Given the description of an element on the screen output the (x, y) to click on. 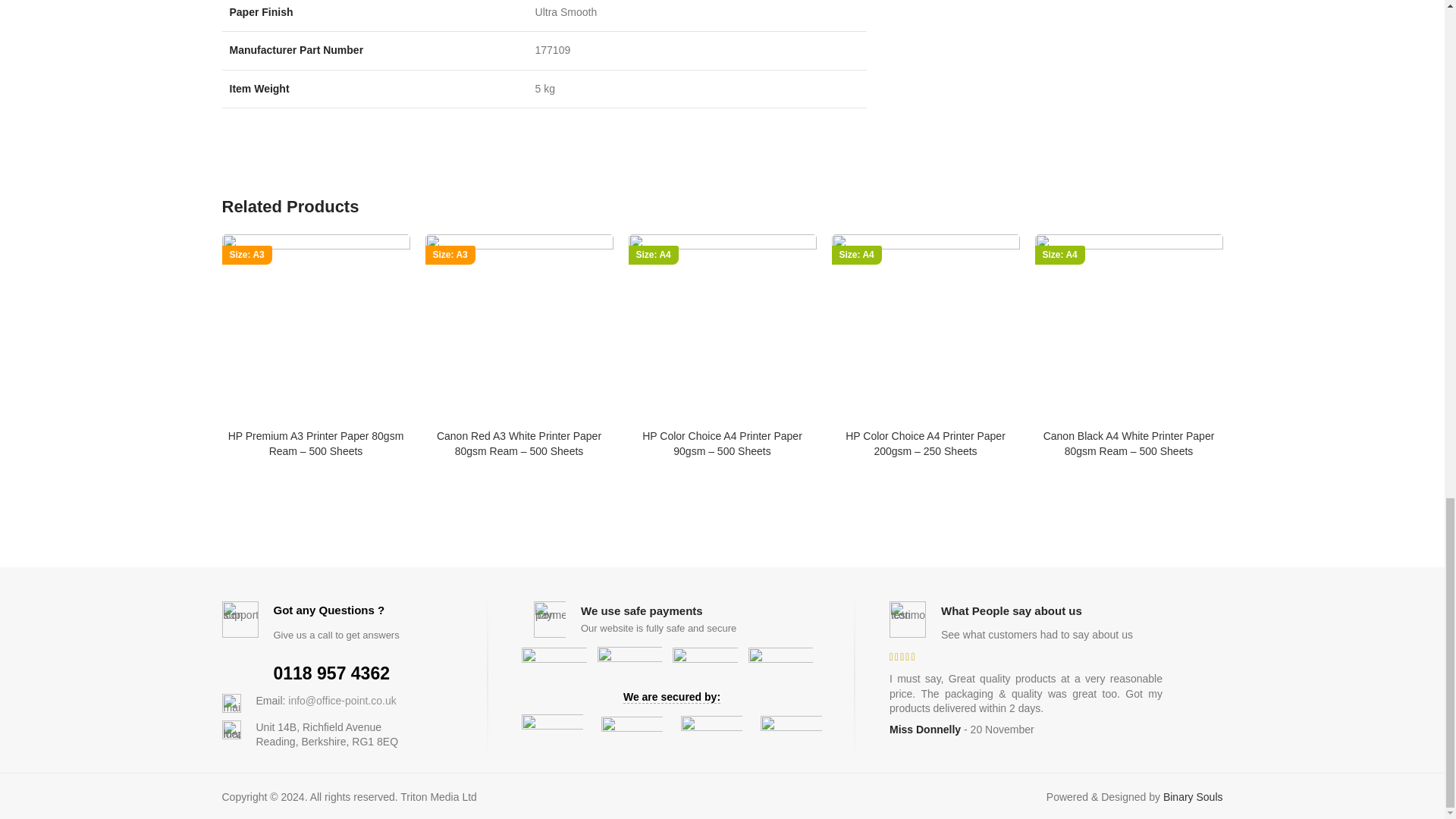
mail (230, 702)
support-icon (239, 619)
map-location (230, 729)
payment-icon (552, 619)
